Given the description of an element on the screen output the (x, y) to click on. 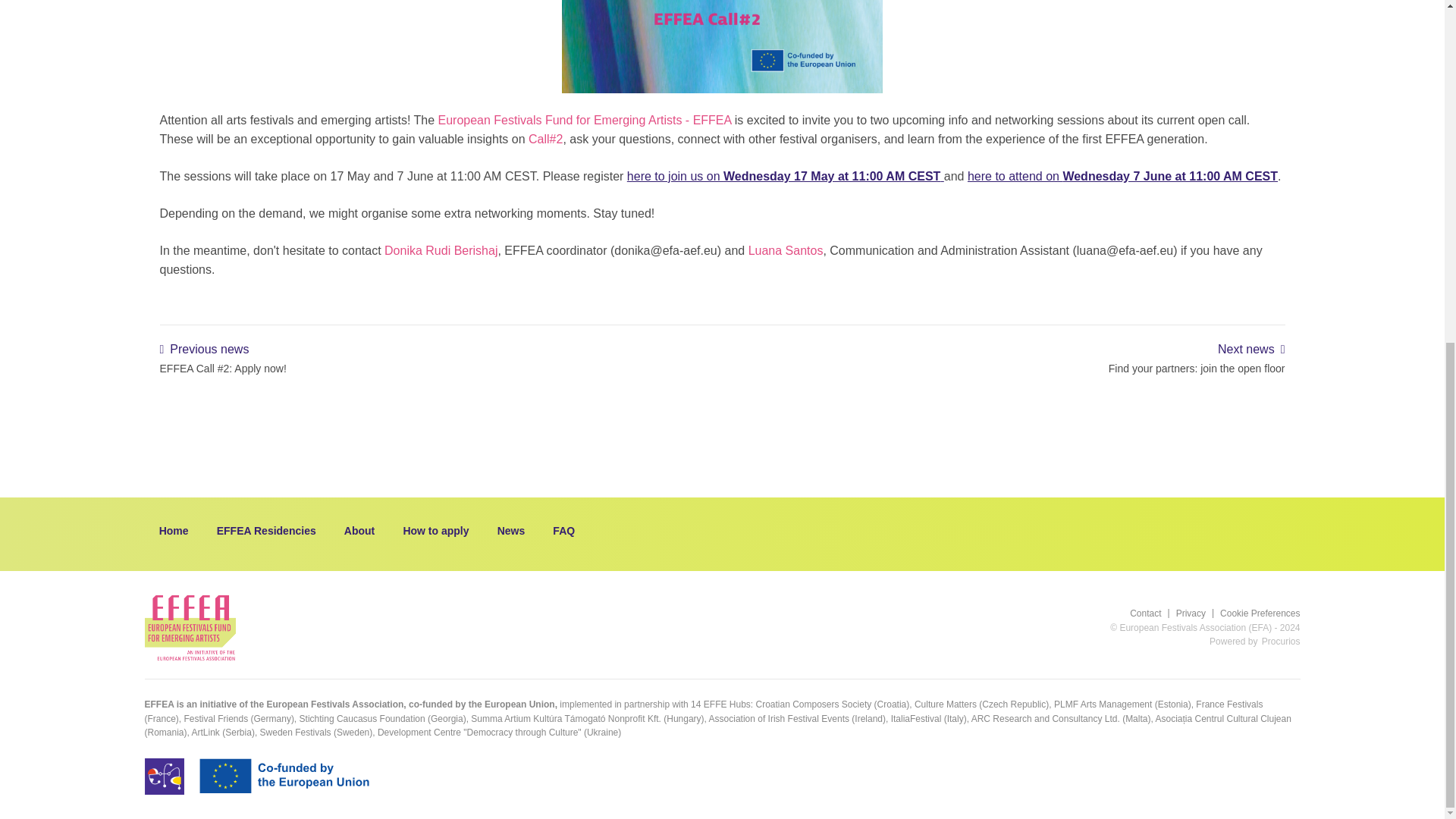
here to join us on Wednesday 17 May at 11:00 AM CEST (785, 175)
Find your partners: join the open floor (1006, 357)
Home (178, 530)
Privacy (1183, 613)
About (364, 530)
Contact (1144, 613)
here to attend on Wednesday 7 June at 11:00 AM CEST (1006, 357)
Procurios (1123, 175)
How to apply (1281, 641)
